Given the description of an element on the screen output the (x, y) to click on. 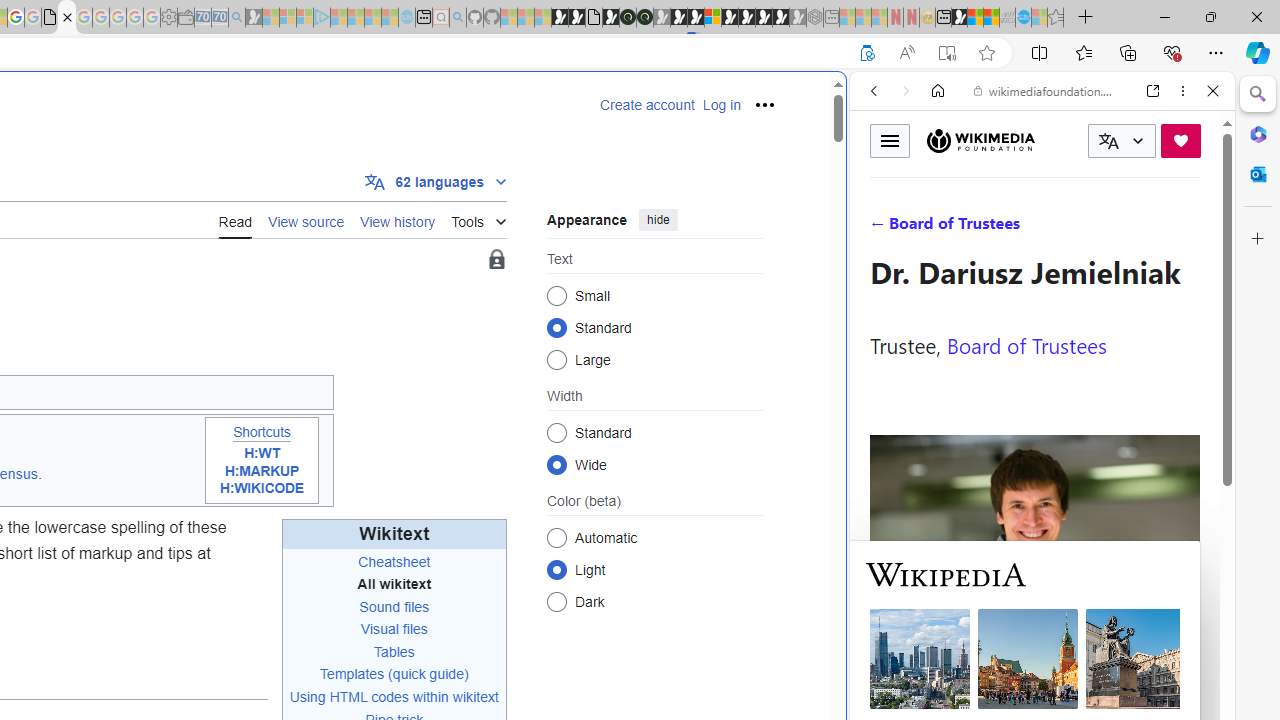
Tools (478, 218)
Toggle menu (890, 140)
H:WT (262, 453)
Large (556, 359)
